Given the description of an element on the screen output the (x, y) to click on. 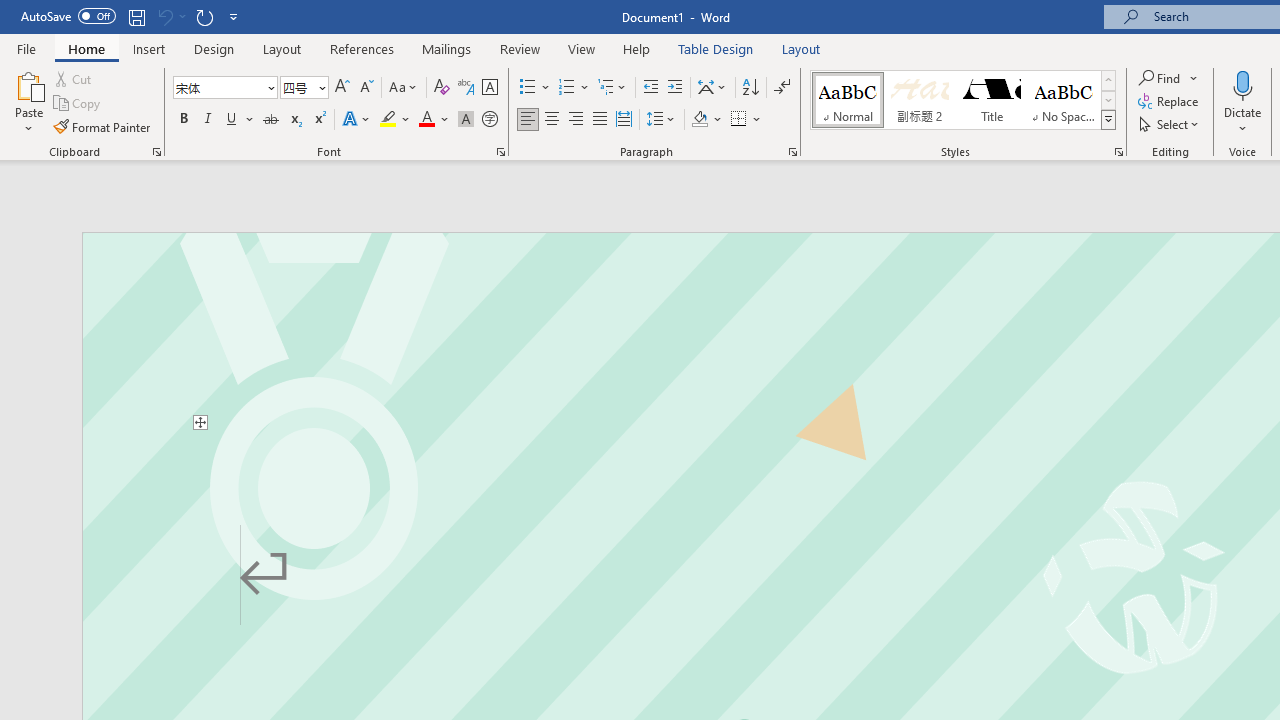
Repeat Start Office Dictation (204, 15)
Change Case (404, 87)
Justify (599, 119)
